Given the description of an element on the screen output the (x, y) to click on. 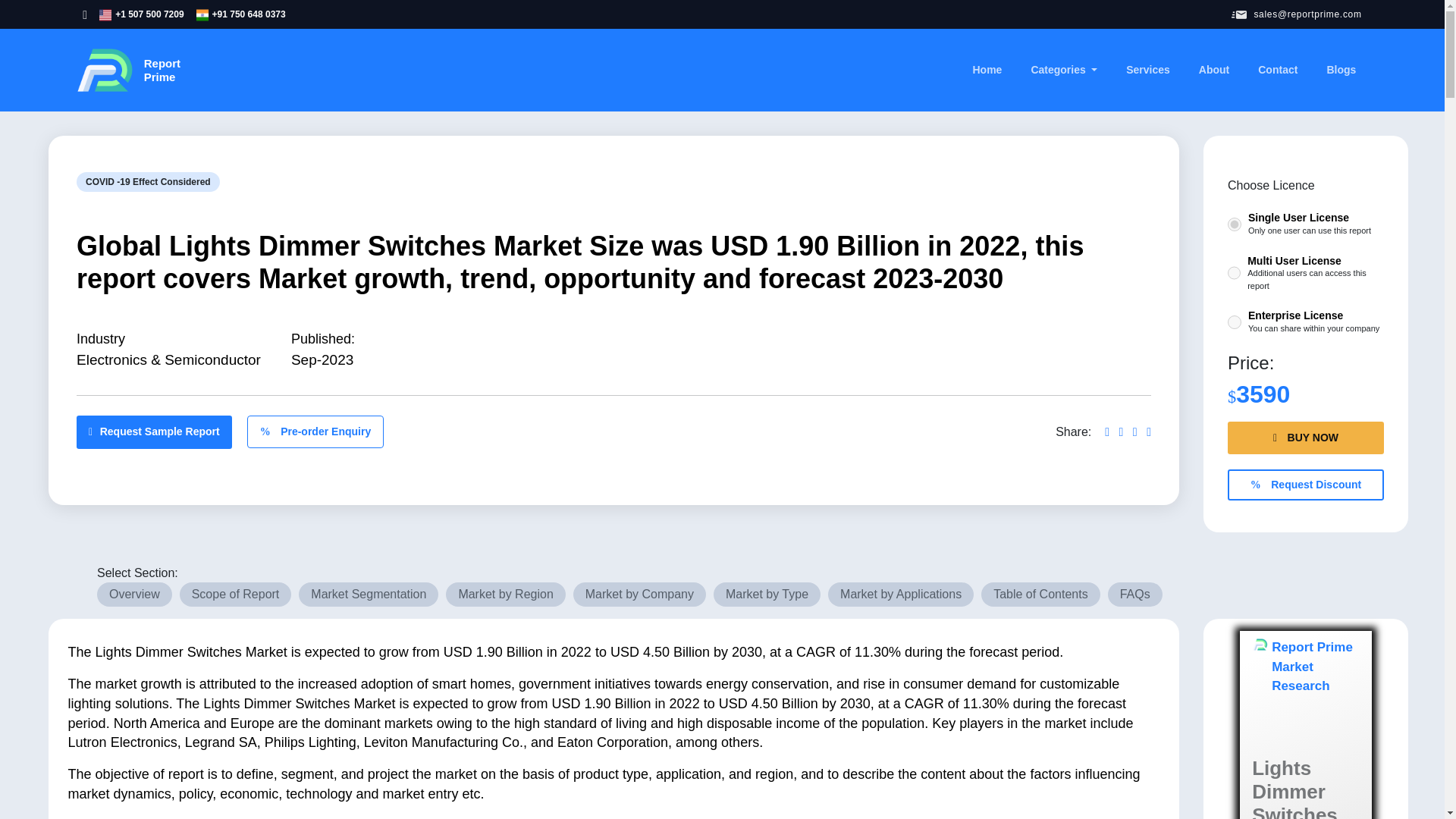
Contact (1277, 70)
Categories (1064, 70)
BUY NOW (1305, 437)
Request Discount (1305, 484)
Blogs (1340, 70)
Request Sample Report (154, 431)
About (1213, 70)
Services (127, 69)
5590 (1147, 70)
